Given the description of an element on the screen output the (x, y) to click on. 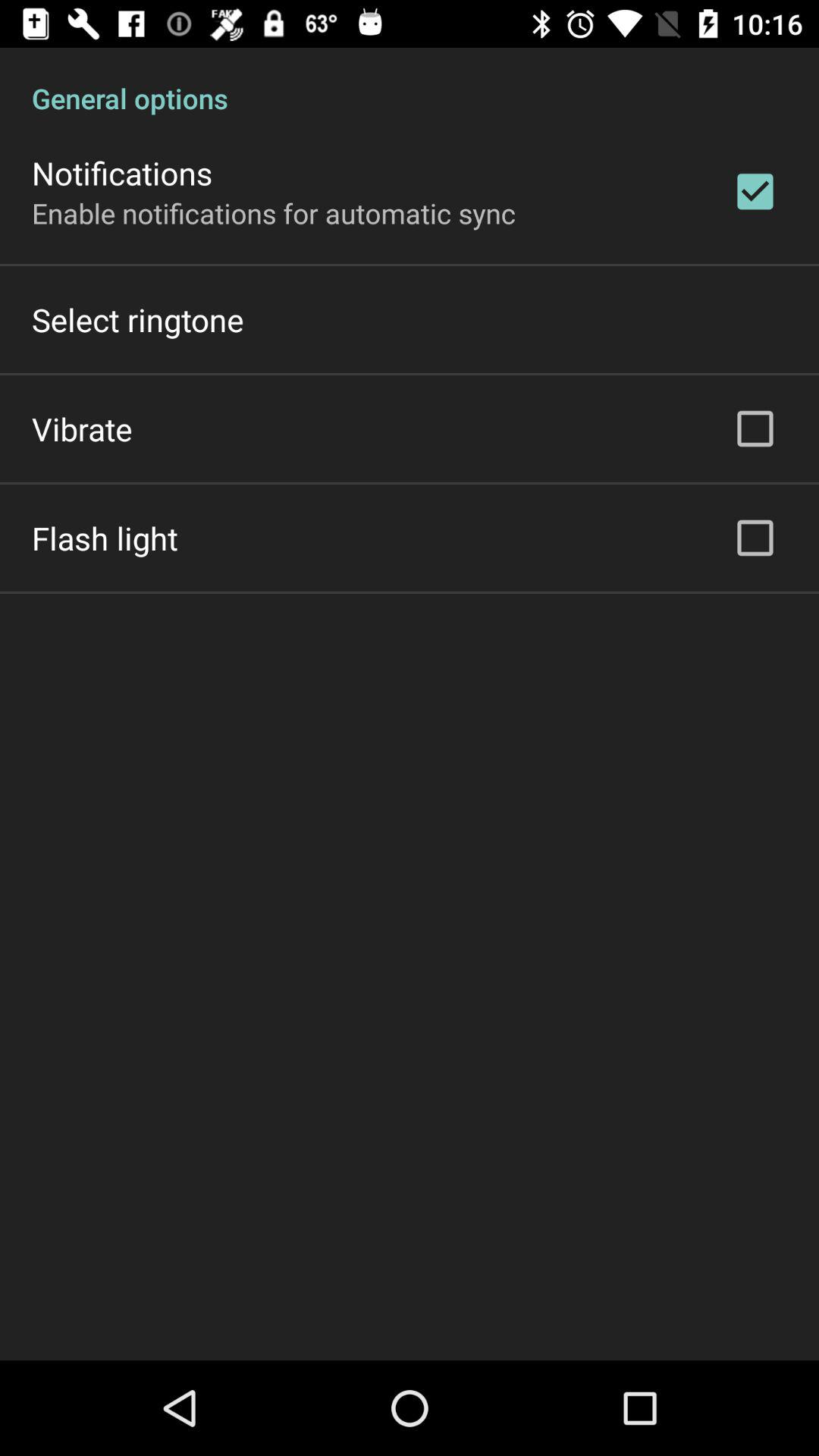
swipe to enable notifications for item (273, 213)
